Given the description of an element on the screen output the (x, y) to click on. 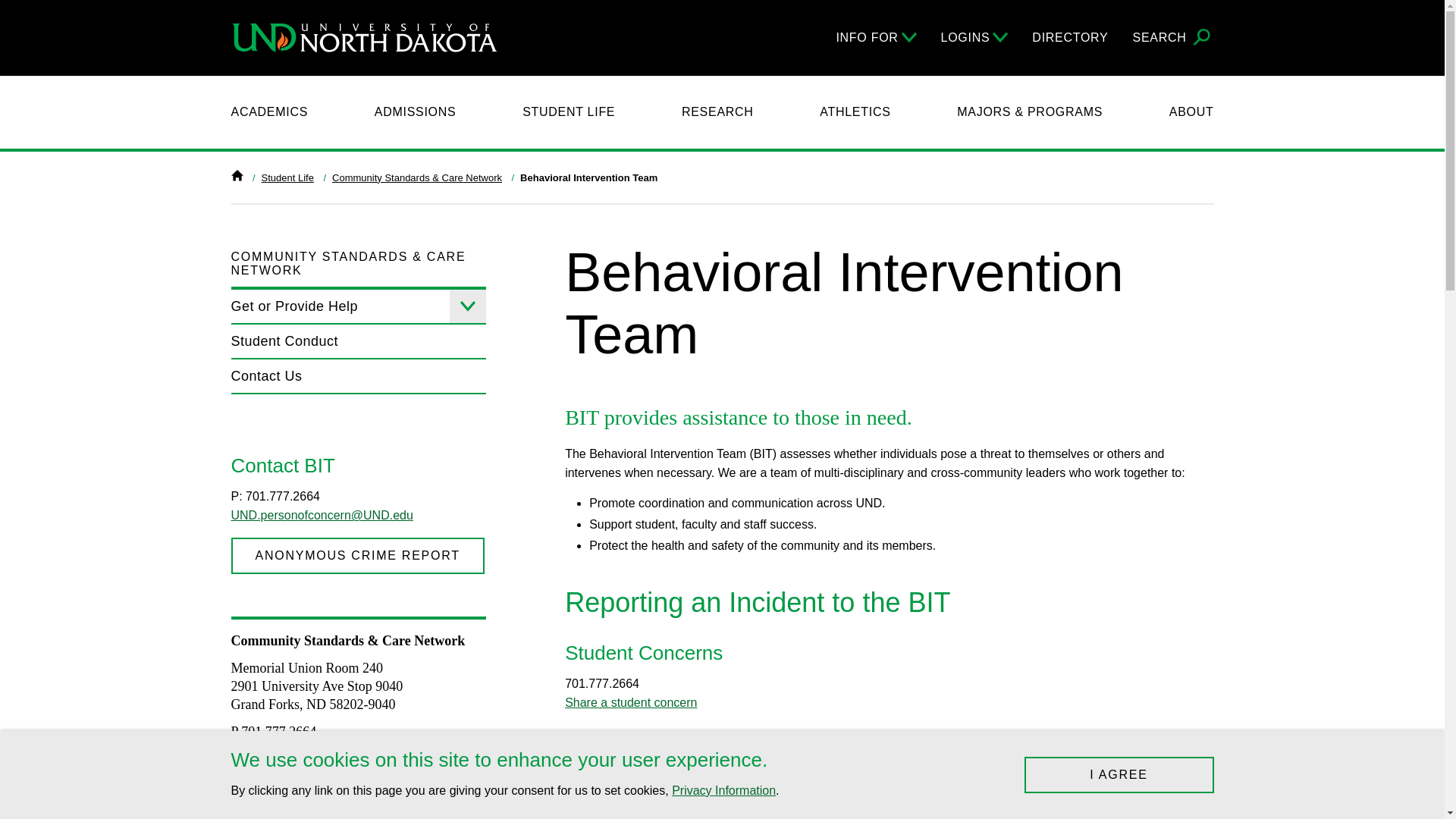
SEARCH (1173, 37)
DIRECTORY (1070, 37)
ADMISSIONS (415, 111)
STUDENT LIFE (568, 111)
INFO FOR (875, 37)
ATHLETICS (854, 111)
RESEARCH (717, 111)
ABOUT (1191, 111)
LOGINS (974, 37)
ACADEMICS (268, 111)
